Given the description of an element on the screen output the (x, y) to click on. 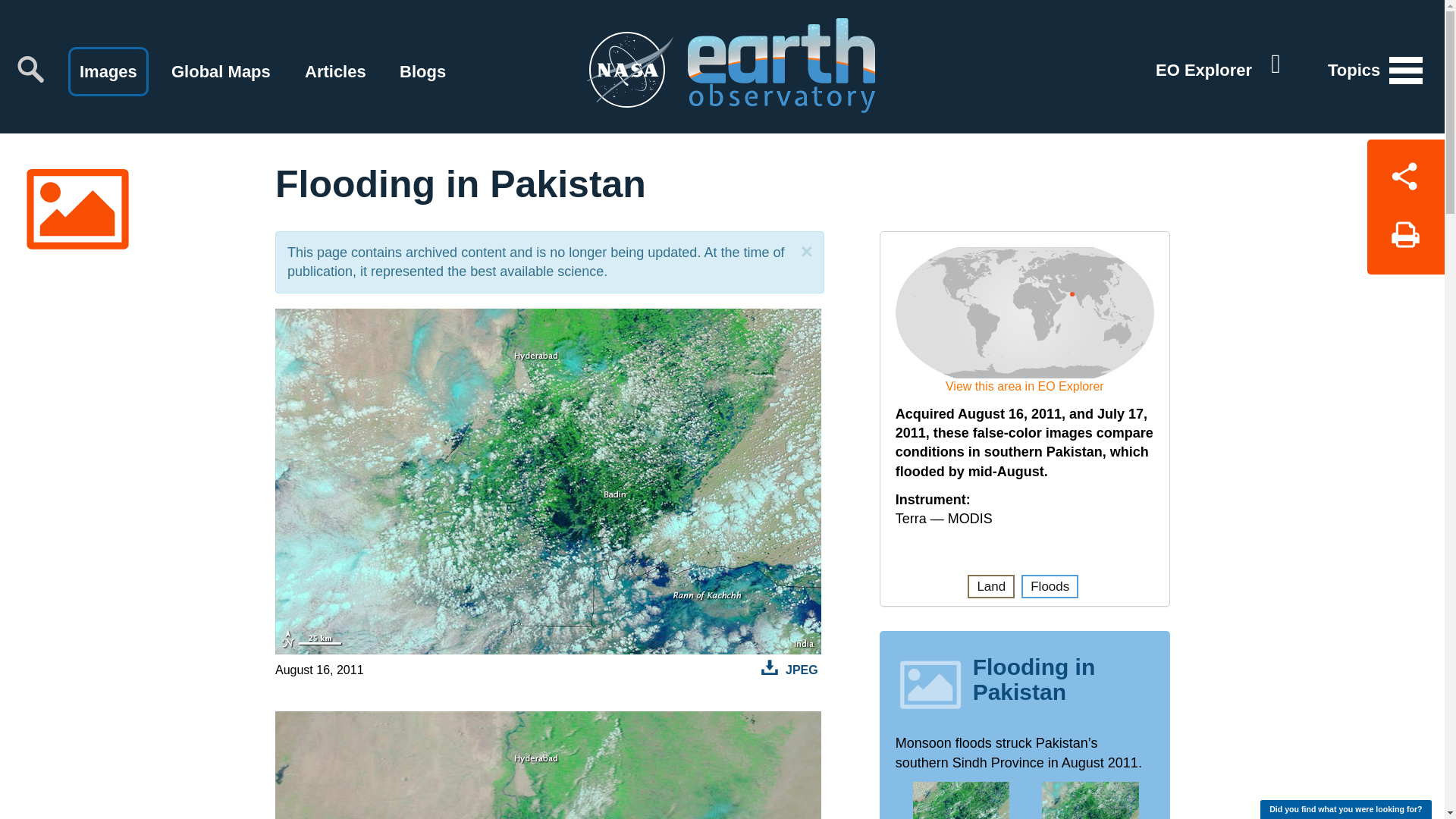
Share (1405, 173)
Print (1405, 240)
